Given the description of an element on the screen output the (x, y) to click on. 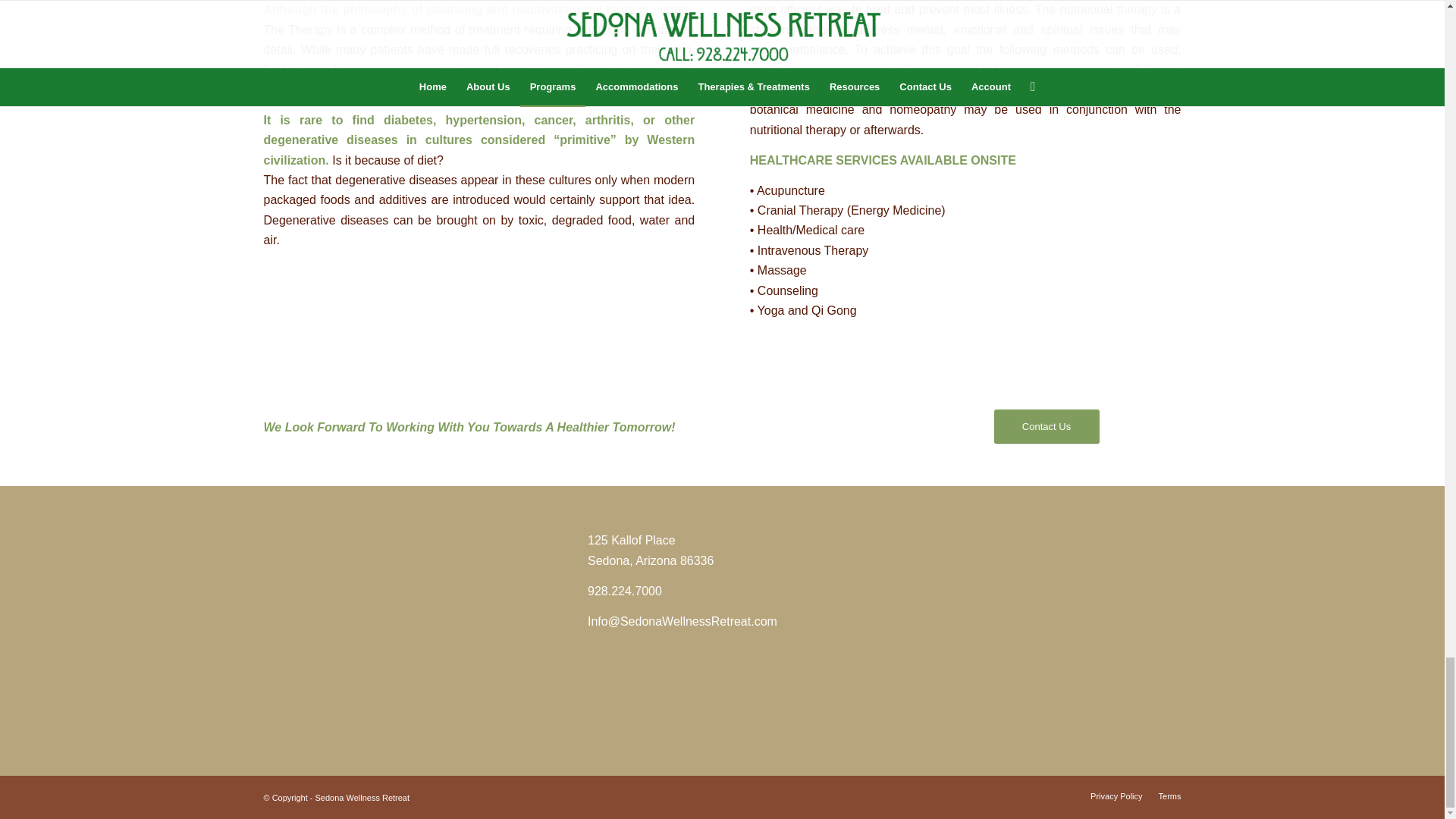
928.224.7000 (625, 590)
Privacy Policy (1115, 795)
Terms (1169, 795)
Contact Us (1045, 426)
